Given the description of an element on the screen output the (x, y) to click on. 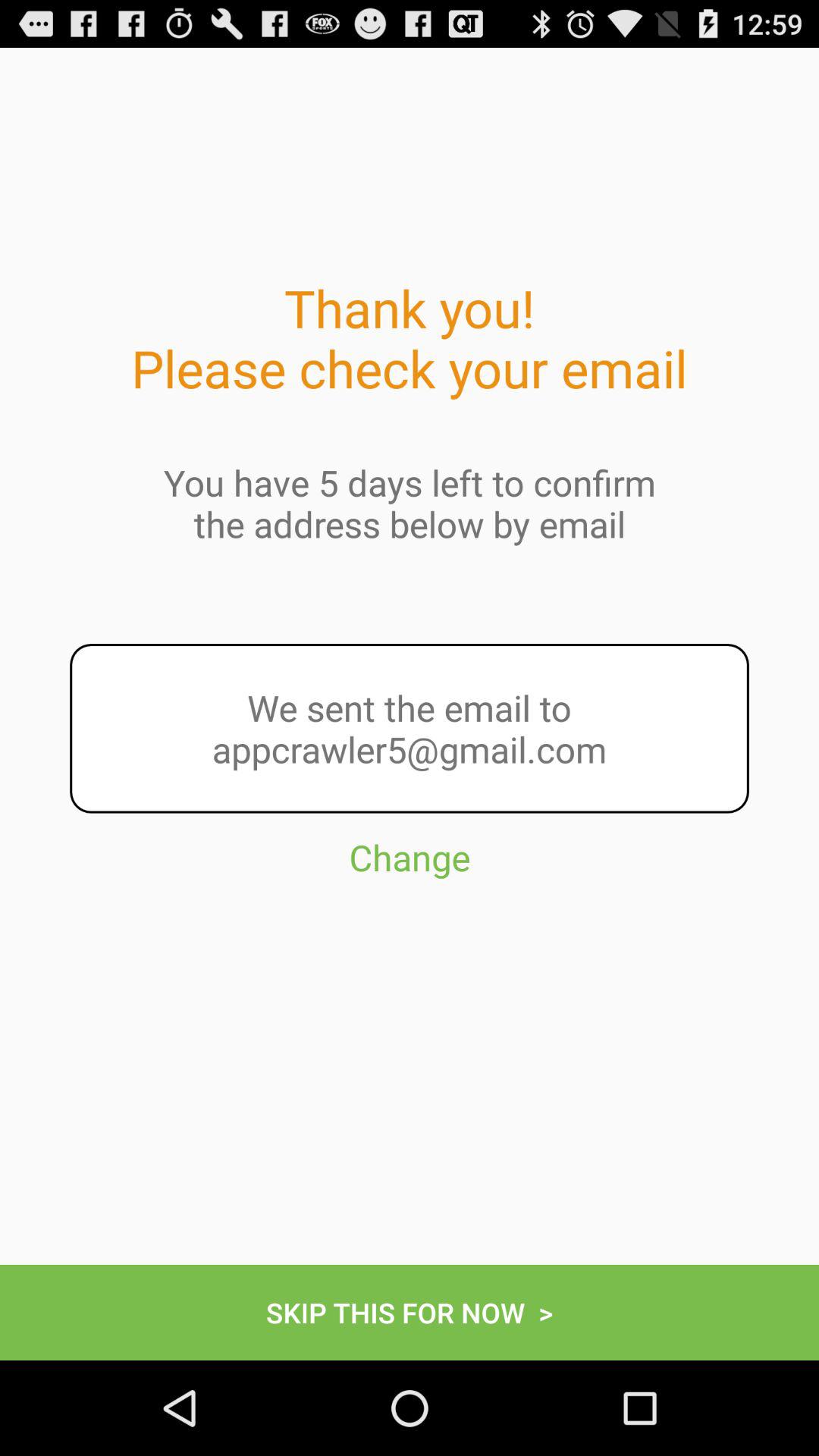
press button above the skip this for button (409, 926)
